Given the description of an element on the screen output the (x, y) to click on. 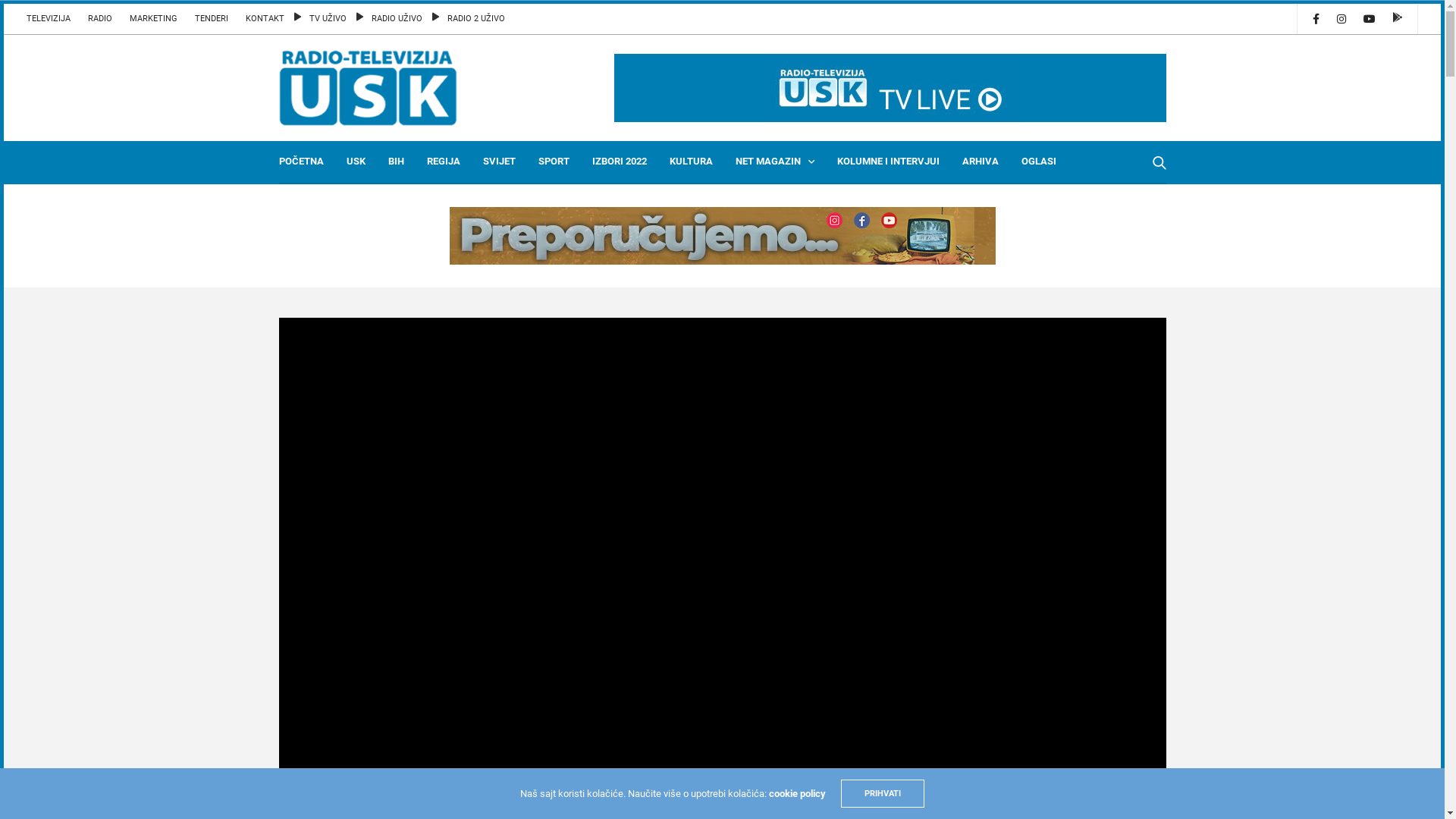
NET MAGAZIN Element type: text (774, 161)
KOLUMNE I INTERVJUI Element type: text (888, 161)
USK Element type: text (354, 161)
PRIHVATI Element type: text (882, 793)
cookie policy Element type: text (796, 793)
TENDERI Element type: text (211, 18)
OGLASI Element type: text (1037, 161)
KONTAKT Element type: text (264, 18)
SPORT Element type: text (553, 161)
BIH Element type: text (396, 161)
REGIJA Element type: text (442, 161)
IZBORI 2022 Element type: text (618, 161)
SVIJET Element type: text (498, 161)
KULTURA Element type: text (690, 161)
MARKETING Element type: text (153, 18)
TELEVIZIJA Element type: text (52, 18)
RADIO Element type: text (99, 18)
ARHIVA Element type: text (979, 161)
